Given the description of an element on the screen output the (x, y) to click on. 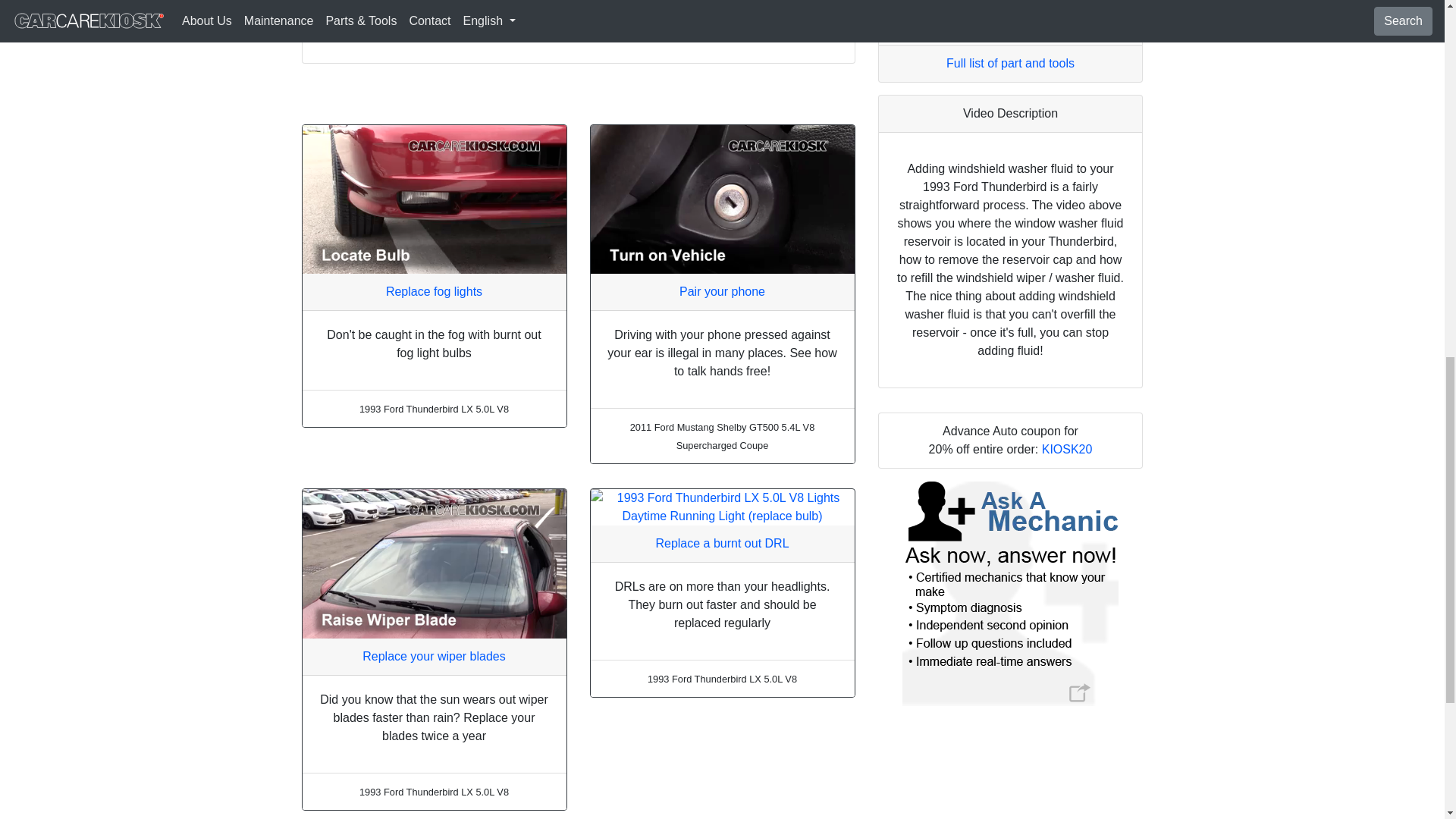
Replace your wiper blades (433, 655)
Pair your phone (722, 291)
Full list of part and tools (1010, 62)
Replace a burnt out DRL (722, 543)
KIOSK20 (1067, 449)
Replace fog lights (433, 291)
